Given the description of an element on the screen output the (x, y) to click on. 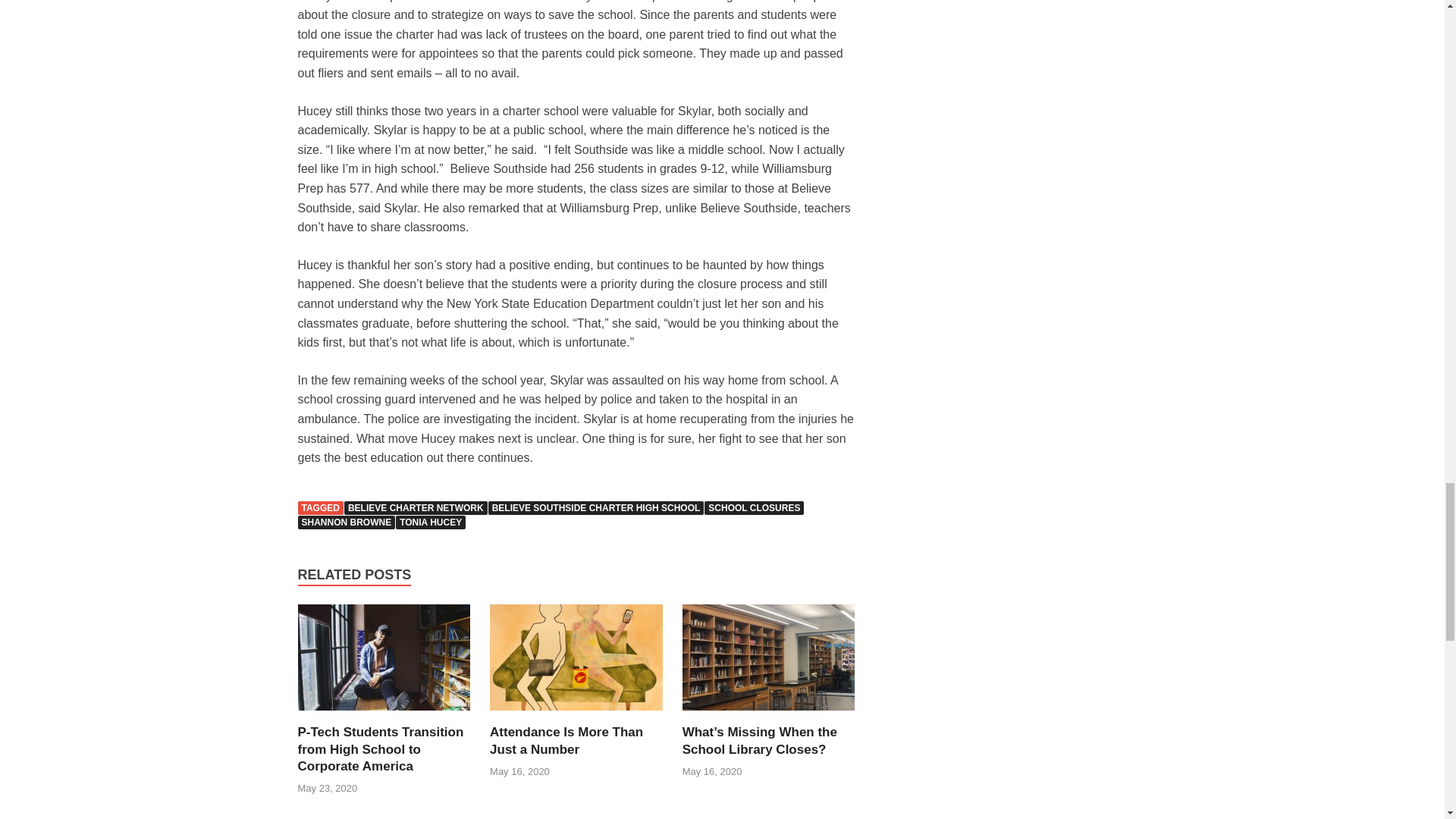
Attendance Is More Than Just a Number (566, 739)
Attendance Is More Than Just a Number (575, 714)
